Given the description of an element on the screen output the (x, y) to click on. 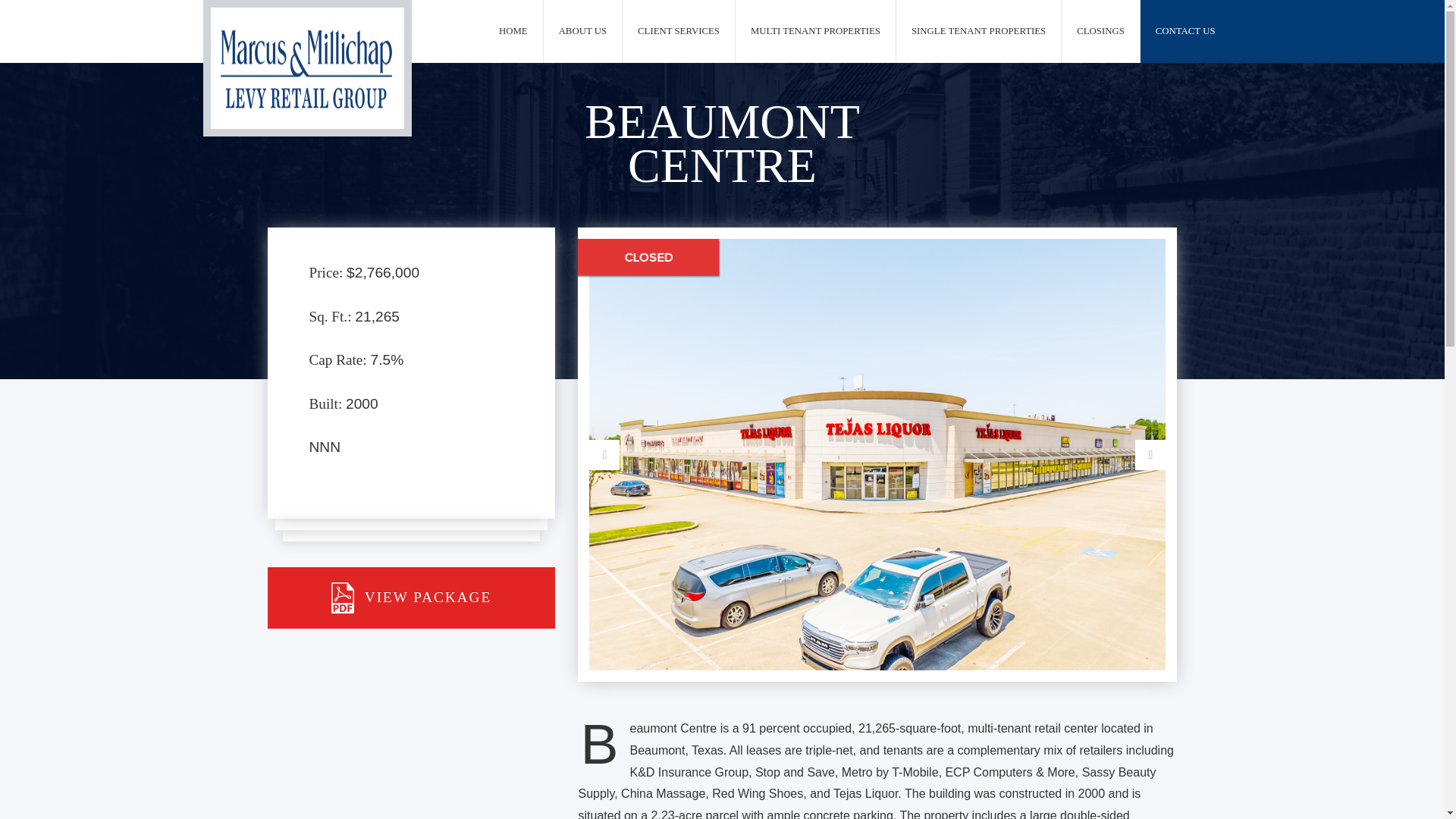
CLIENT SERVICES (679, 31)
MULTI TENANT PROPERTIES (815, 31)
Levy Retail Group (307, 68)
ABOUT US (582, 31)
HOME (513, 31)
CLOSINGS (1100, 31)
CONTACT US (1185, 31)
VIEW PACKAGE (410, 597)
SINGLE TENANT PROPERTIES (978, 31)
